Given the description of an element on the screen output the (x, y) to click on. 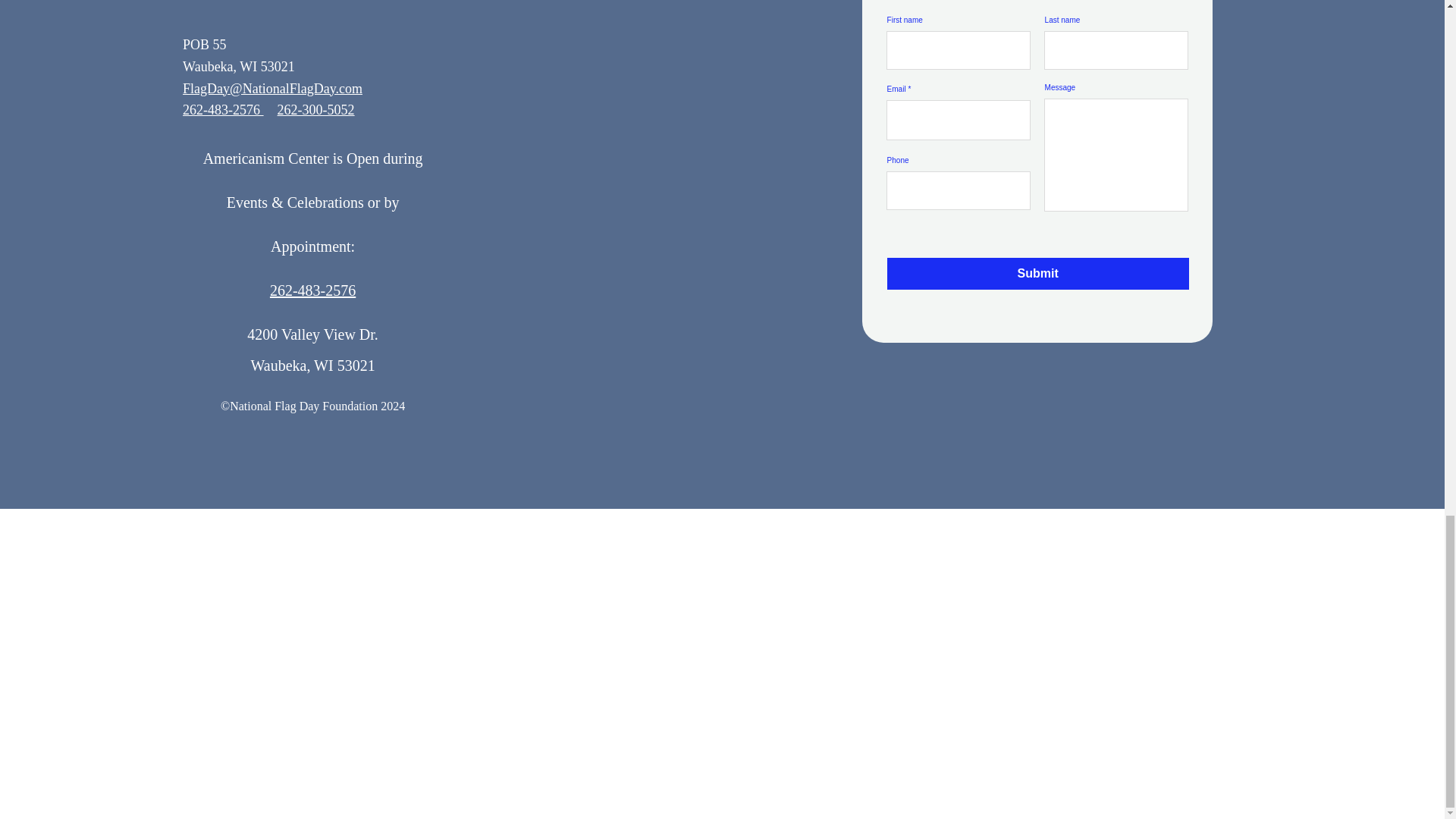
262-483-2576 (223, 109)
262-483-2576 (312, 282)
262-300-5052 (316, 109)
Submit (1037, 273)
